Given the description of an element on the screen output the (x, y) to click on. 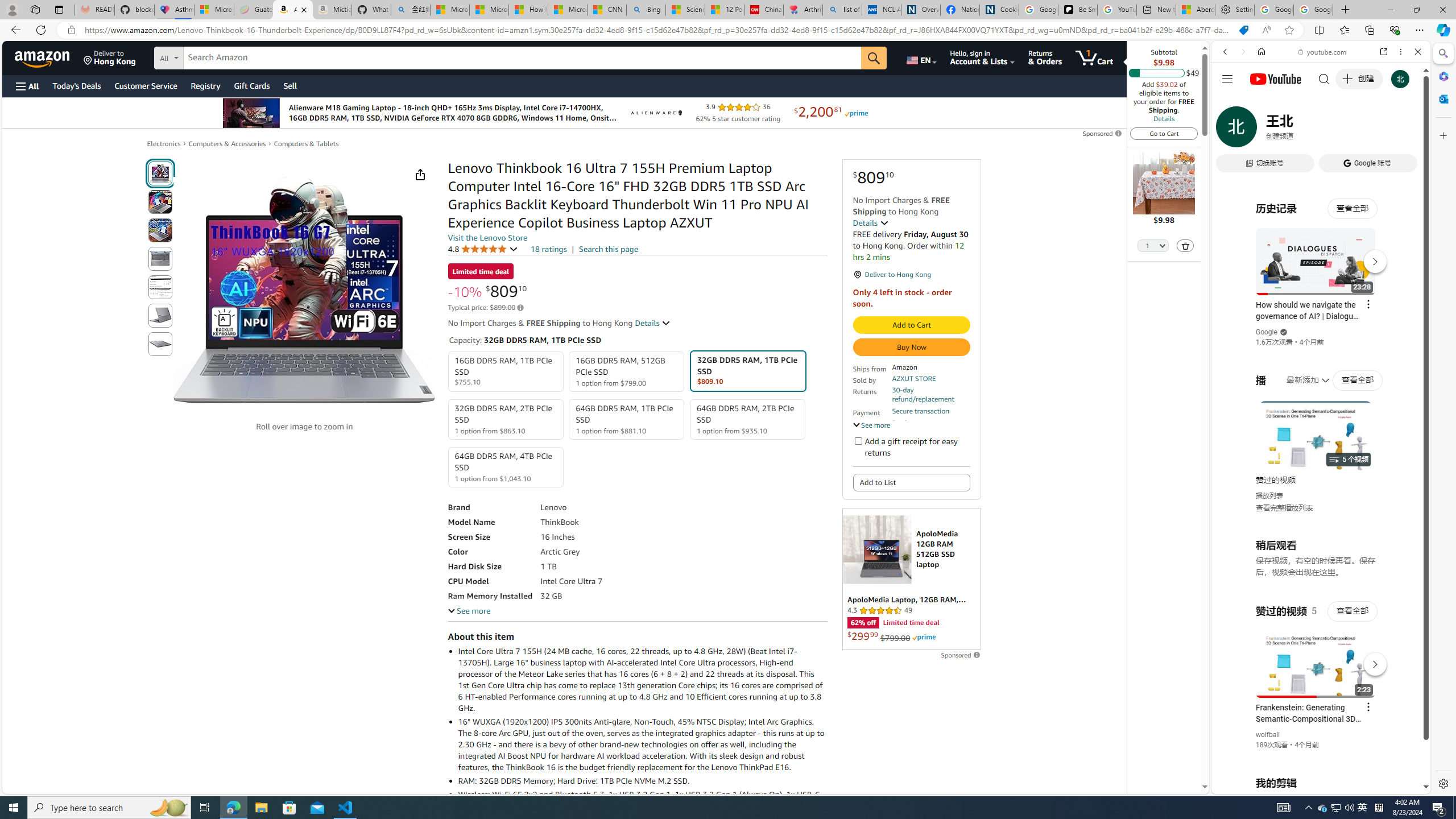
Arthritis: Ask Health Professionals (802, 9)
View site information (70, 29)
Bing (646, 9)
Back (1225, 51)
16GB DDR5 RAM, 1TB PCIe SSD $755.10 (505, 371)
Details (1163, 118)
youtube.com (1322, 51)
64GB DDR5 RAM, 4TB PCIe SSD 1 option from $1,043.10 (505, 466)
Microsoft Start (567, 9)
Refresh (40, 29)
